Given the description of an element on the screen output the (x, y) to click on. 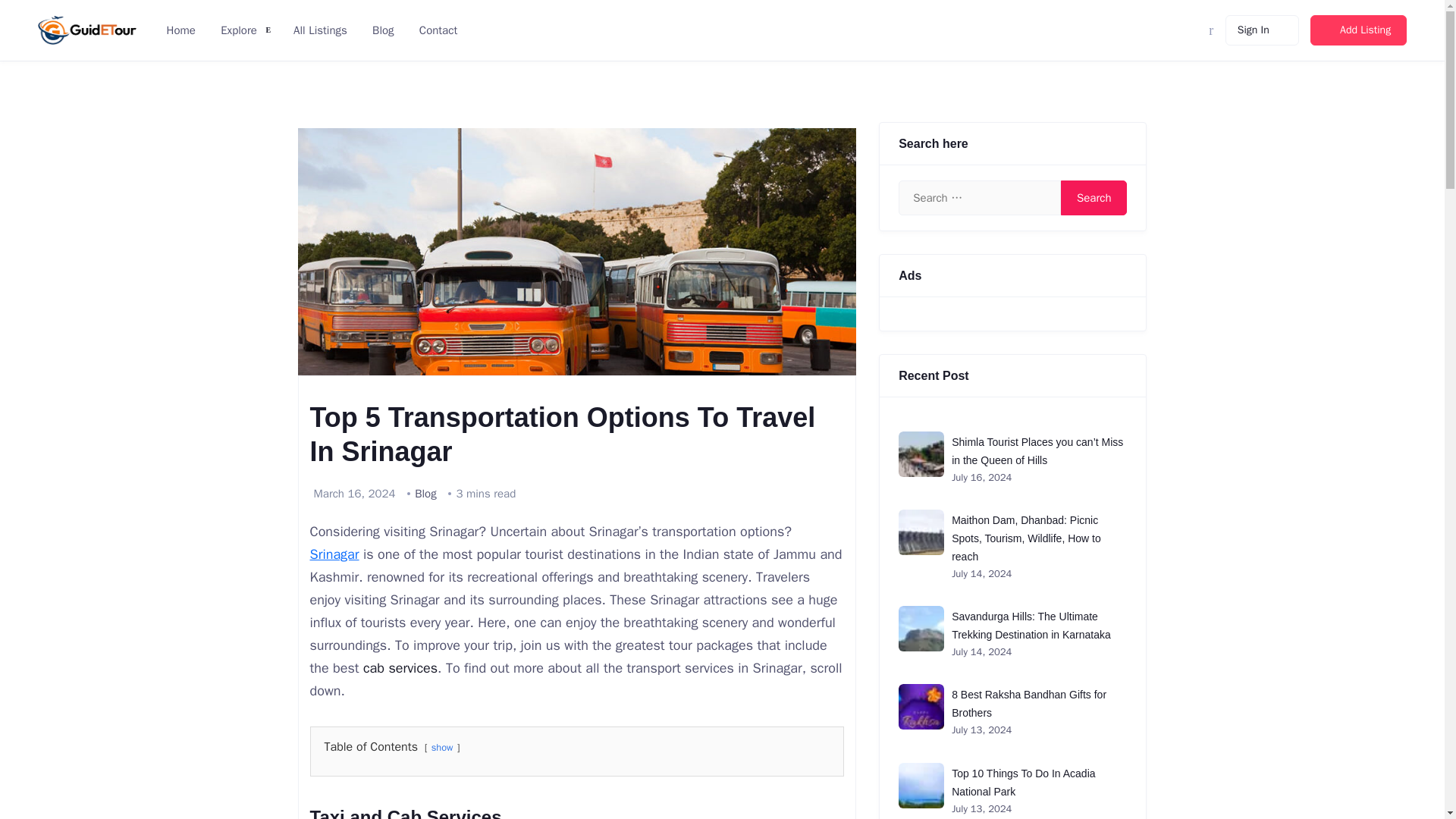
Search (1093, 197)
show (441, 747)
Home (179, 30)
All Listings (318, 30)
Sign In (1261, 30)
Blog (424, 493)
Search (1093, 197)
Add Listing (1358, 30)
Explore (237, 30)
Blog (381, 30)
Srinagar (333, 554)
Contact (437, 30)
